Given the description of an element on the screen output the (x, y) to click on. 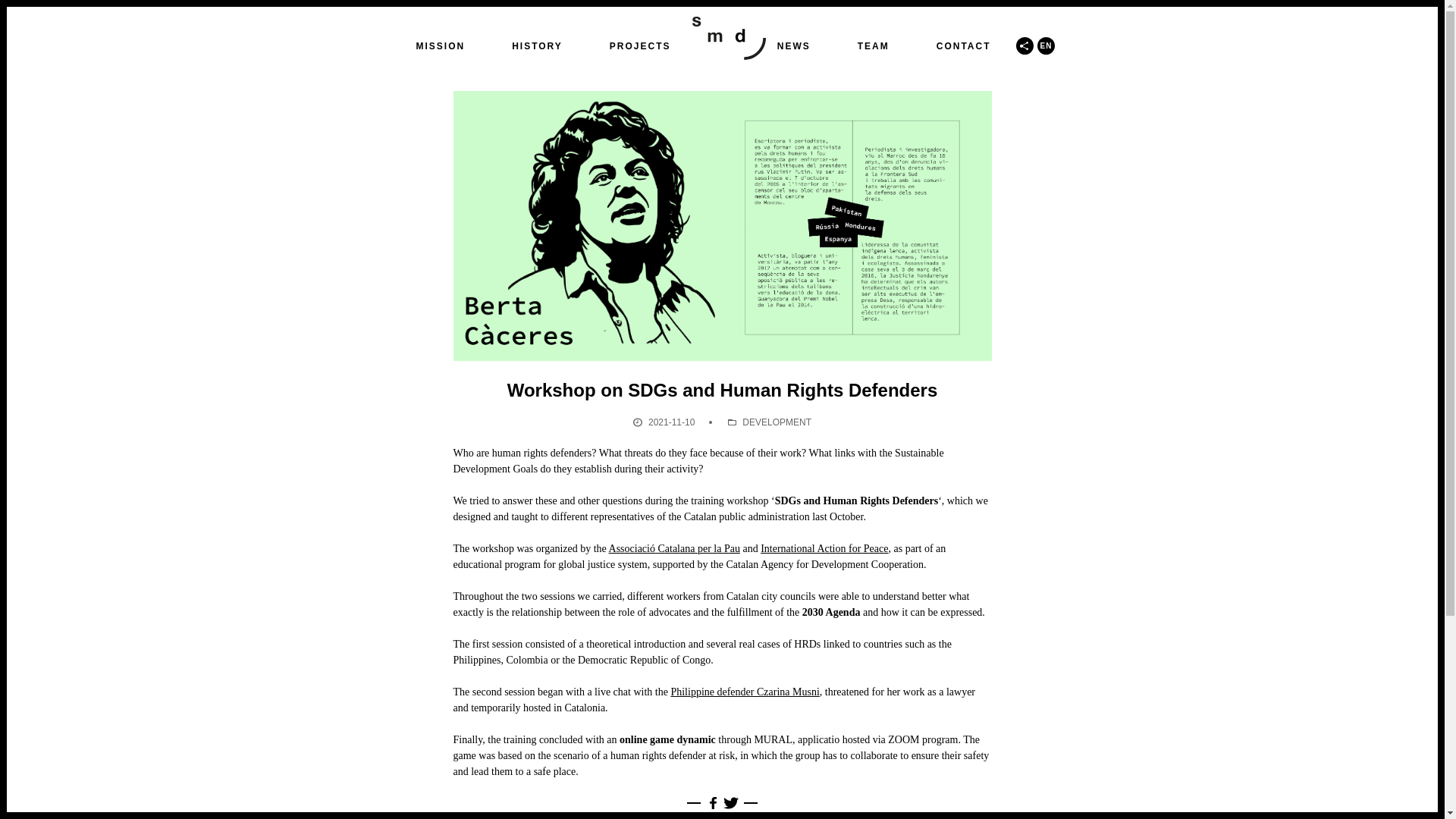
MISSION (439, 45)
PROJECTS (640, 45)
Philippine defender Czarina Musni (743, 691)
NEWS (794, 45)
HISTORY (536, 45)
International Action for Peace (824, 548)
DEVELOPMENT (776, 421)
TEAM (873, 45)
CONTACT (963, 45)
